Given the description of an element on the screen output the (x, y) to click on. 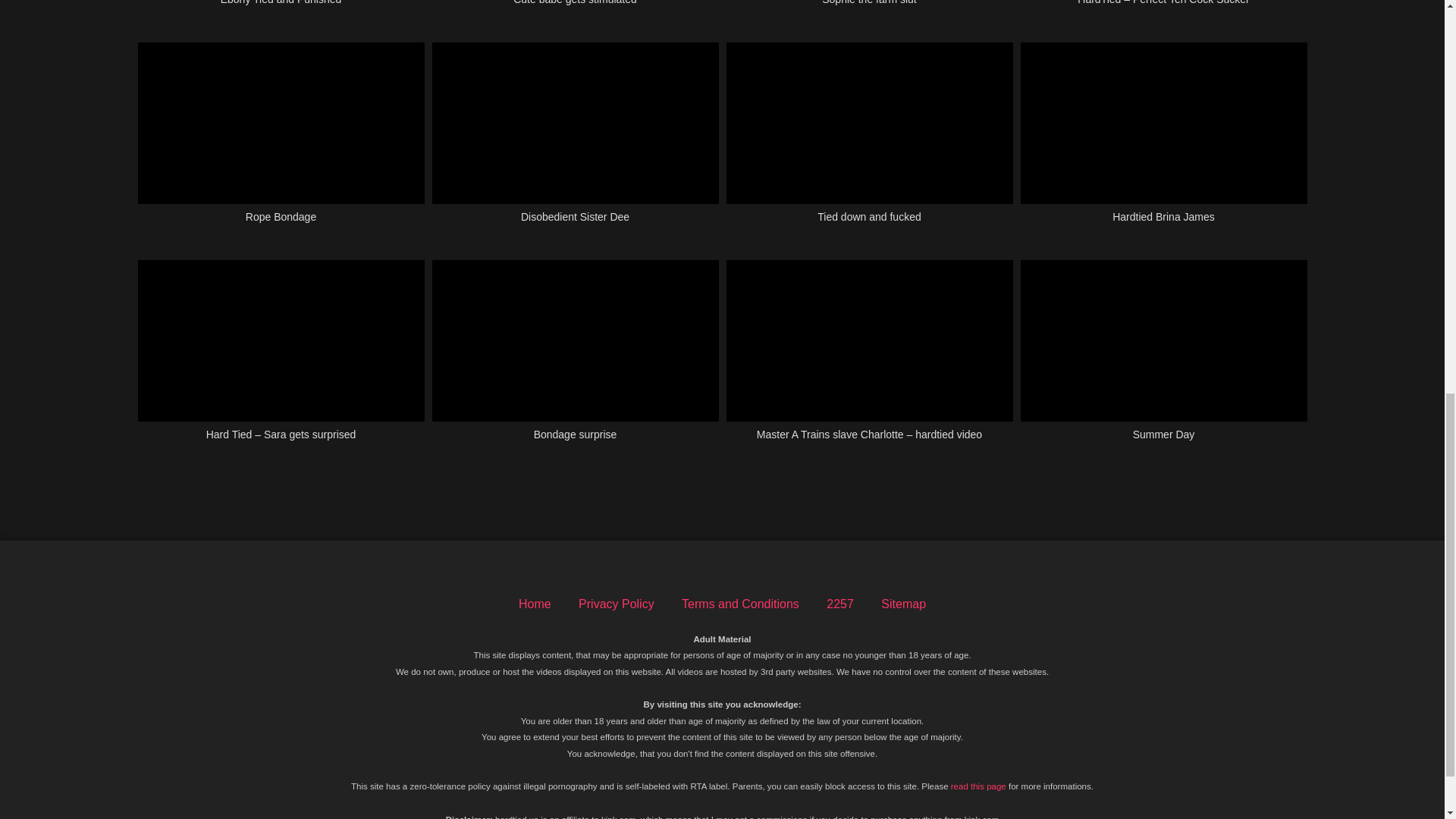
Sitemap (903, 603)
Rope Bondage (281, 141)
Home (534, 603)
Privacy Policy (615, 603)
Ebony Tied and Punished (281, 11)
Terms and Conditions (740, 603)
Rope Bondage (281, 141)
Summer Day (1163, 359)
Bondage surprise (575, 359)
Tied down and fucked (869, 141)
Hardtied Brina James (1163, 141)
Disobedient Sister Dee (575, 141)
Summer Day (1163, 359)
2257 (840, 603)
Hardtied Brina James (1163, 141)
